Given the description of an element on the screen output the (x, y) to click on. 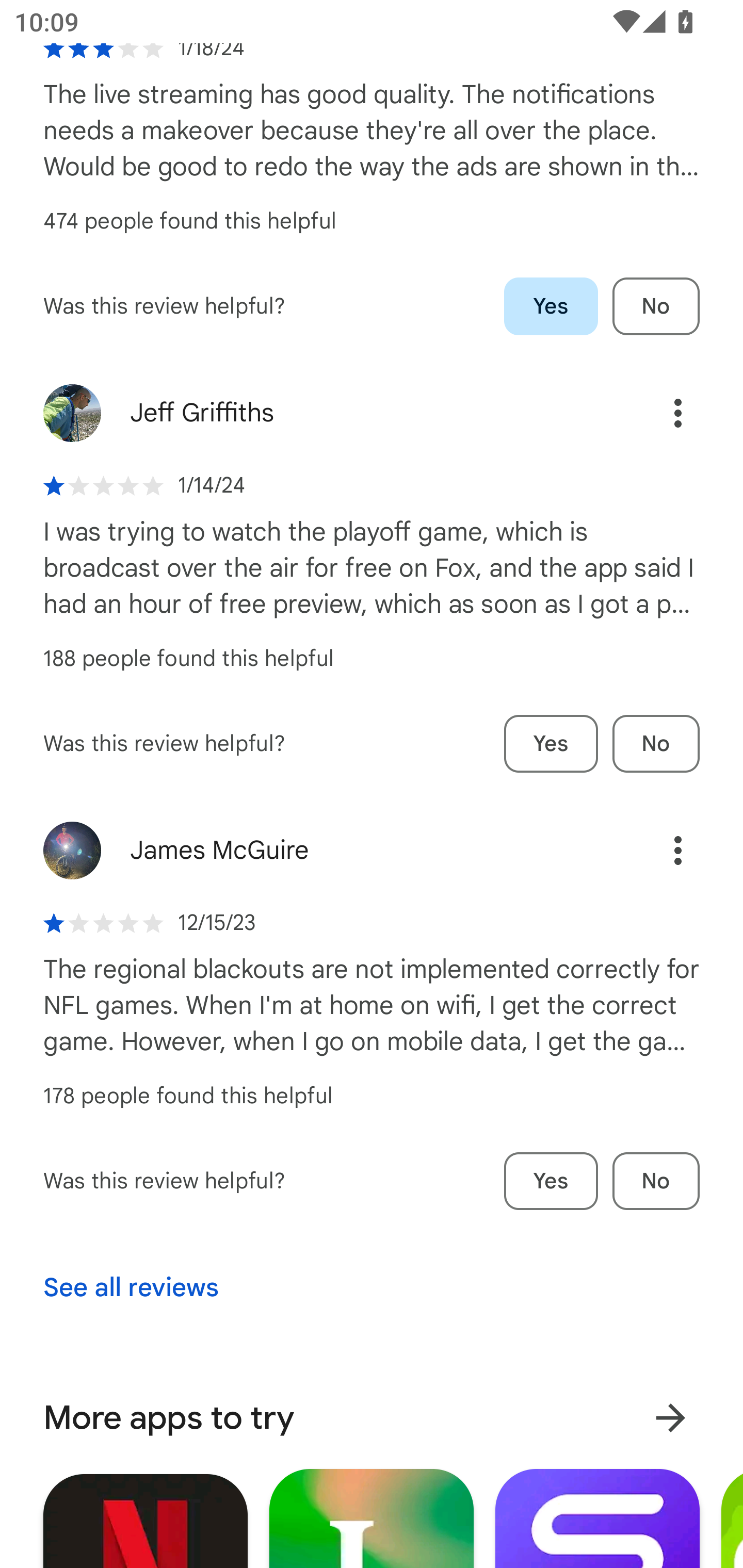
Yes (550, 306)
No (655, 306)
Options (655, 413)
Yes (550, 743)
No (655, 743)
Options (655, 850)
Yes (550, 1181)
No (655, 1181)
See all reviews (130, 1287)
More apps to try More results for More apps to try (371, 1418)
More results for More apps to try (670, 1418)
